Given the description of an element on the screen output the (x, y) to click on. 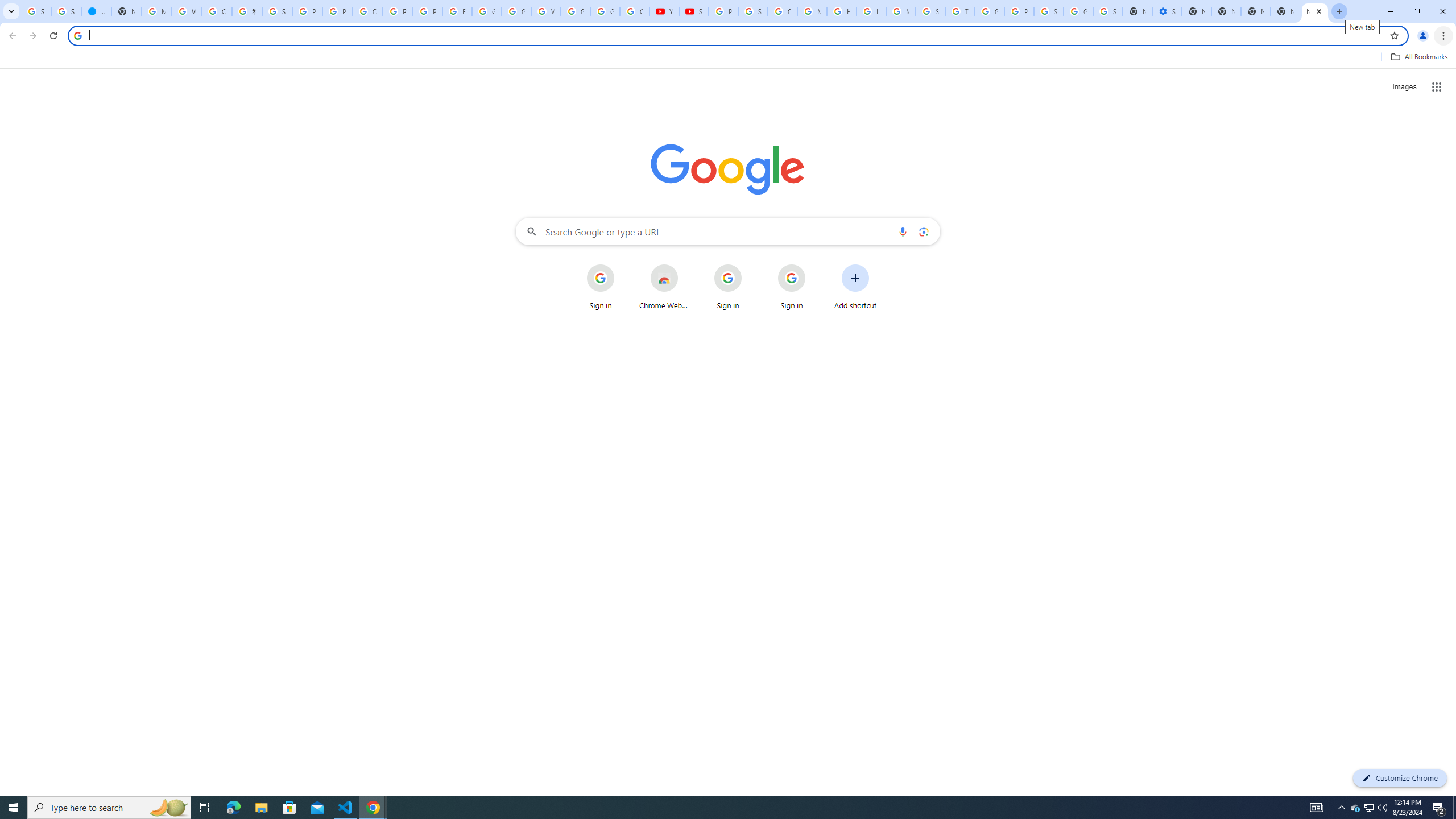
USA TODAY (95, 11)
Sign in - Google Accounts (1048, 11)
